Given the description of an element on the screen output the (x, y) to click on. 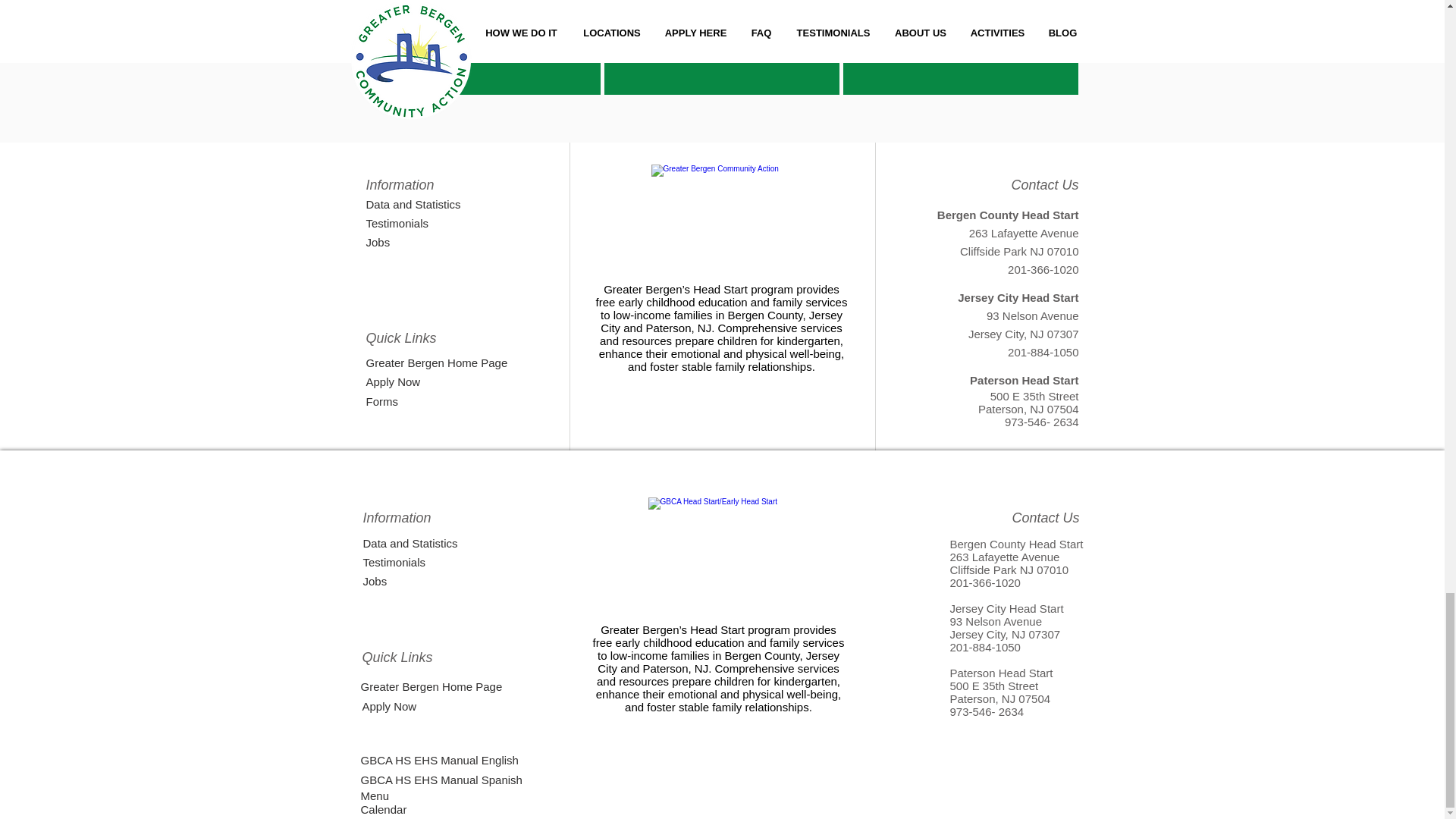
Jobs (446, 241)
Data and Statistics (419, 203)
Testimonials (419, 222)
Apply Now (480, 381)
Greater Bergen Home Page (480, 362)
